Given the description of an element on the screen output the (x, y) to click on. 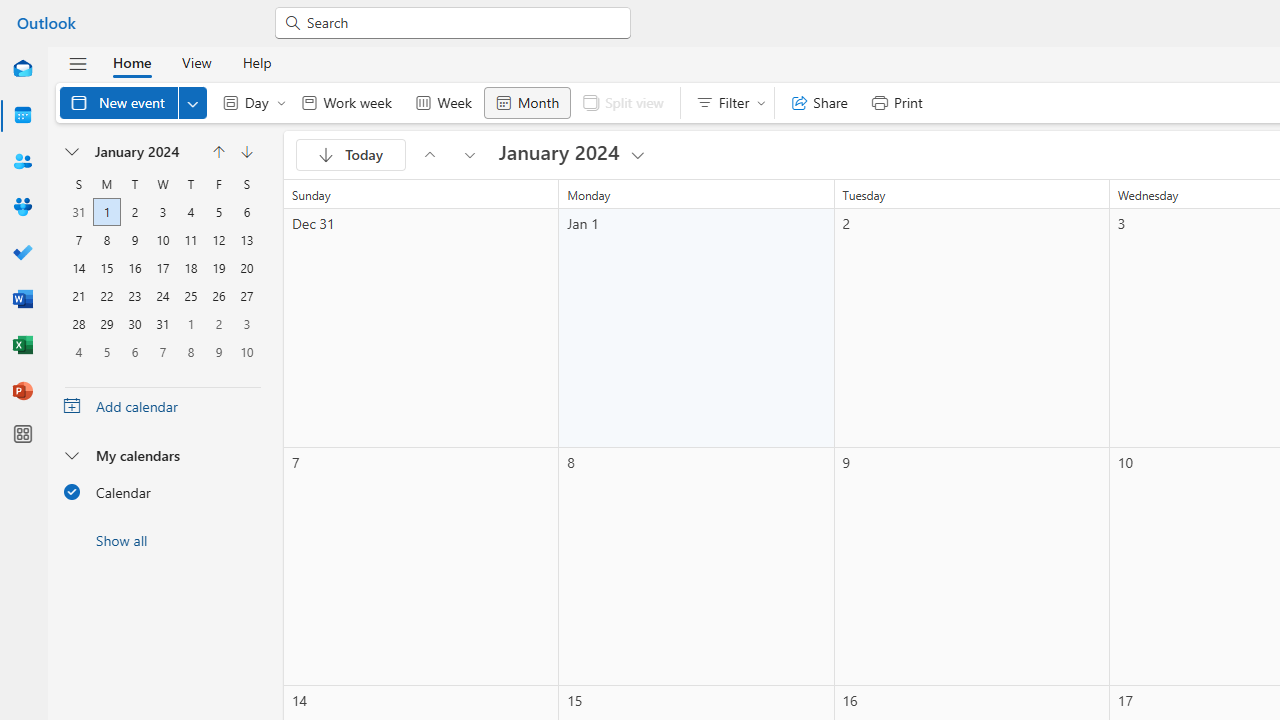
Filter (726, 102)
1, January, 2024 (107, 212)
January 2024 (573, 154)
9, February, 2024 (218, 351)
Go to today August 27, 2024 (350, 154)
3, February, 2024 (246, 323)
4, January, 2024 (191, 211)
12, January, 2024 (218, 239)
23, January, 2024 (134, 295)
16, January, 2024 (134, 268)
30, January, 2024 (134, 323)
Show all (162, 540)
My calendars (162, 455)
